Given the description of an element on the screen output the (x, y) to click on. 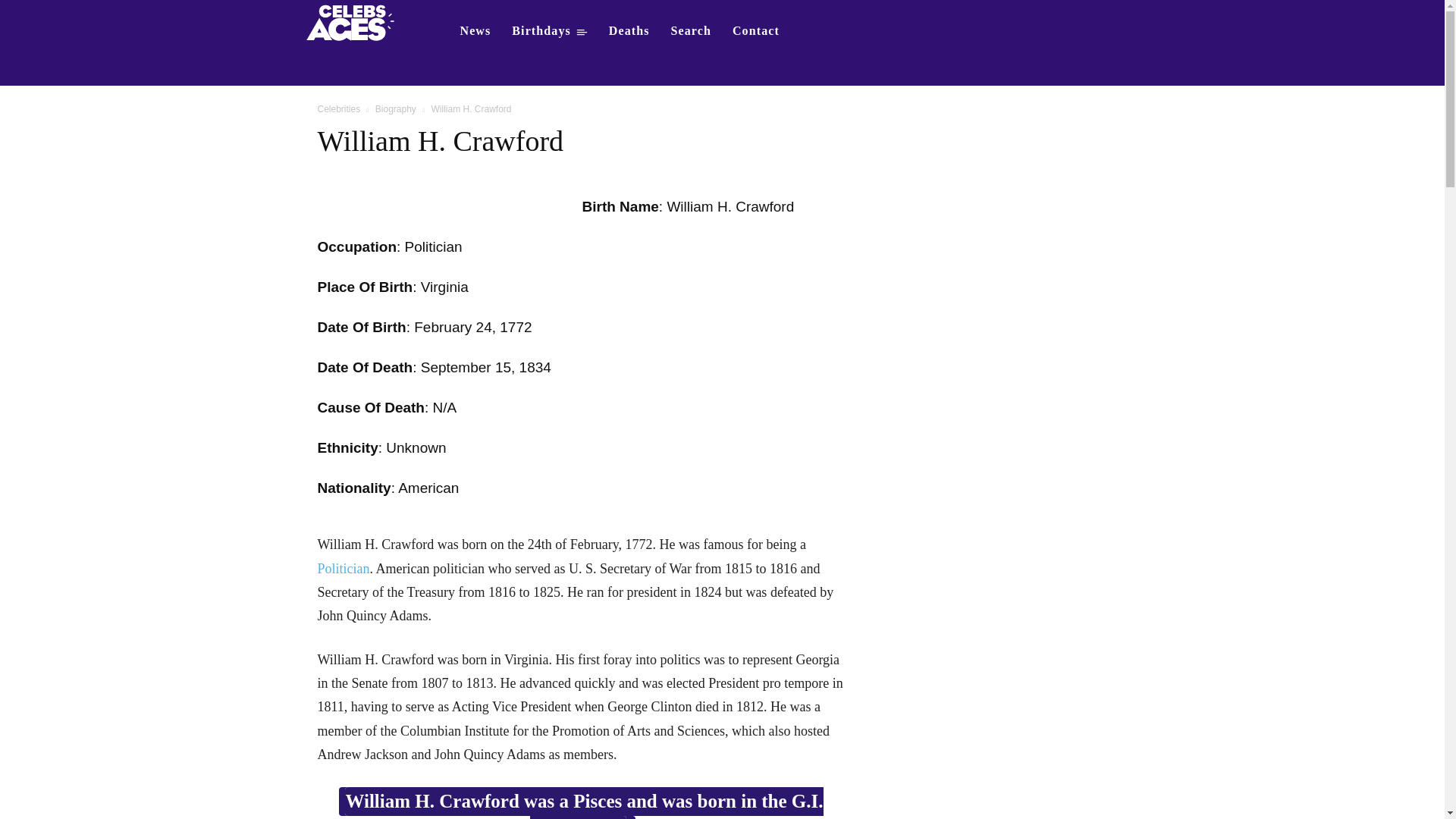
Search (691, 31)
24 (484, 326)
1772 (515, 326)
Deaths (629, 31)
Birthdays (548, 31)
Politician (343, 568)
Celebs News (474, 31)
News (474, 31)
Celebrities (338, 109)
Who is dating who (354, 21)
